Given the description of an element on the screen output the (x, y) to click on. 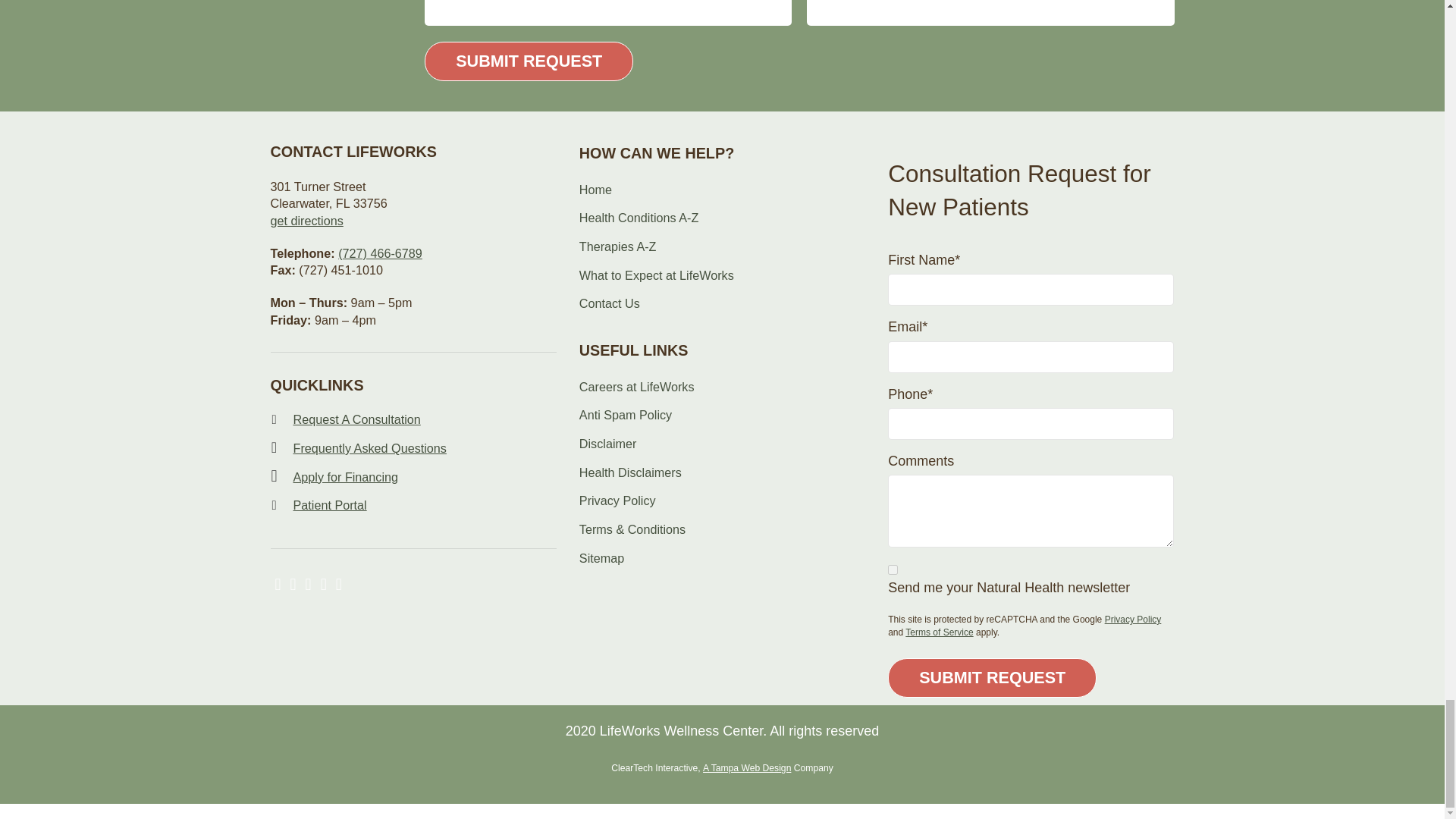
Submit Request (992, 677)
Submit Request (529, 61)
Send me your Natural Health newsletter (893, 569)
